Given the description of an element on the screen output the (x, y) to click on. 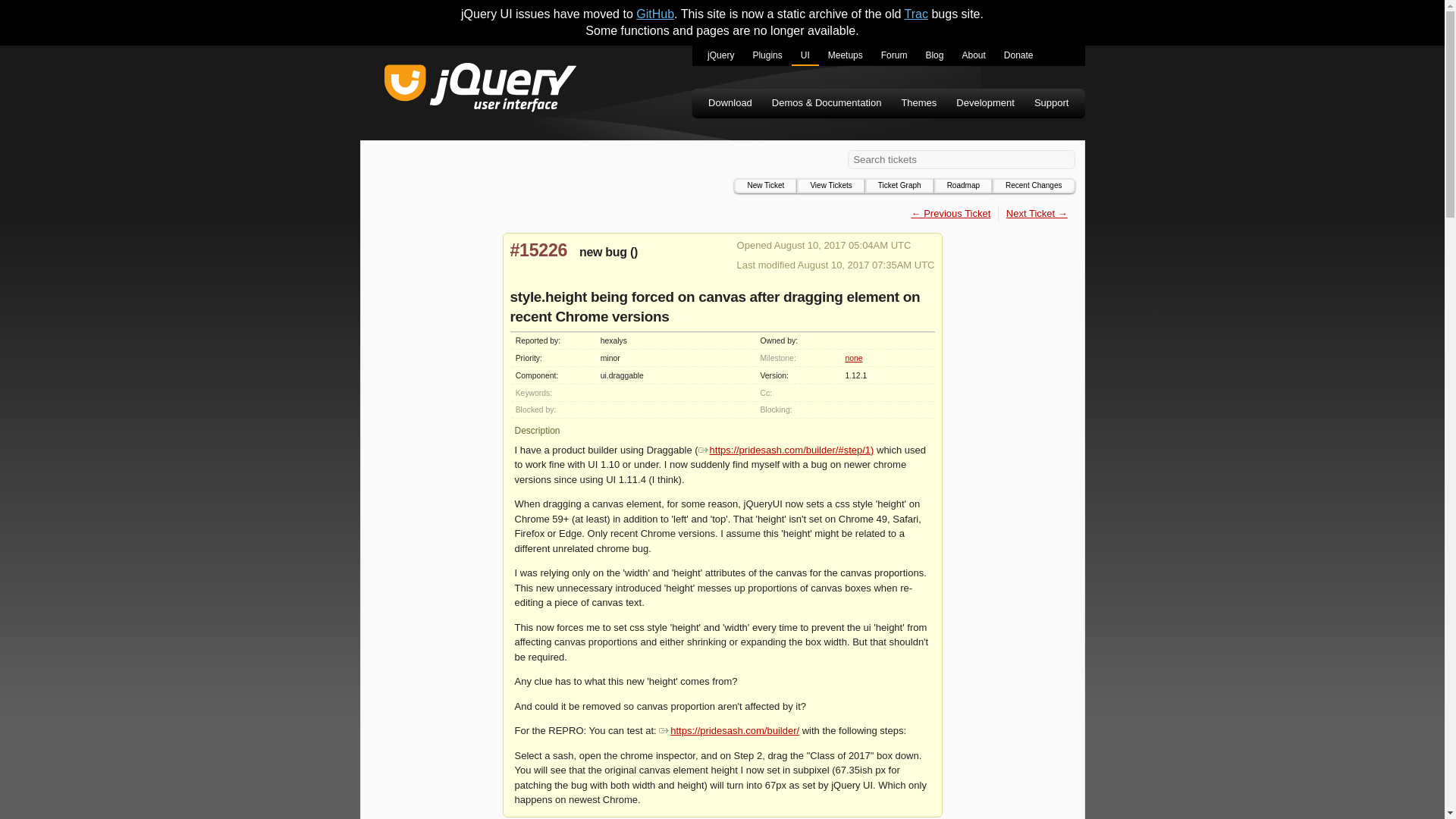
Donate (1018, 55)
Forum (894, 55)
Blog (933, 55)
none (852, 357)
View Tickets (830, 185)
Plugins (766, 55)
jQuery (720, 55)
Meetups (845, 55)
Roadmap (963, 185)
